Given the description of an element on the screen output the (x, y) to click on. 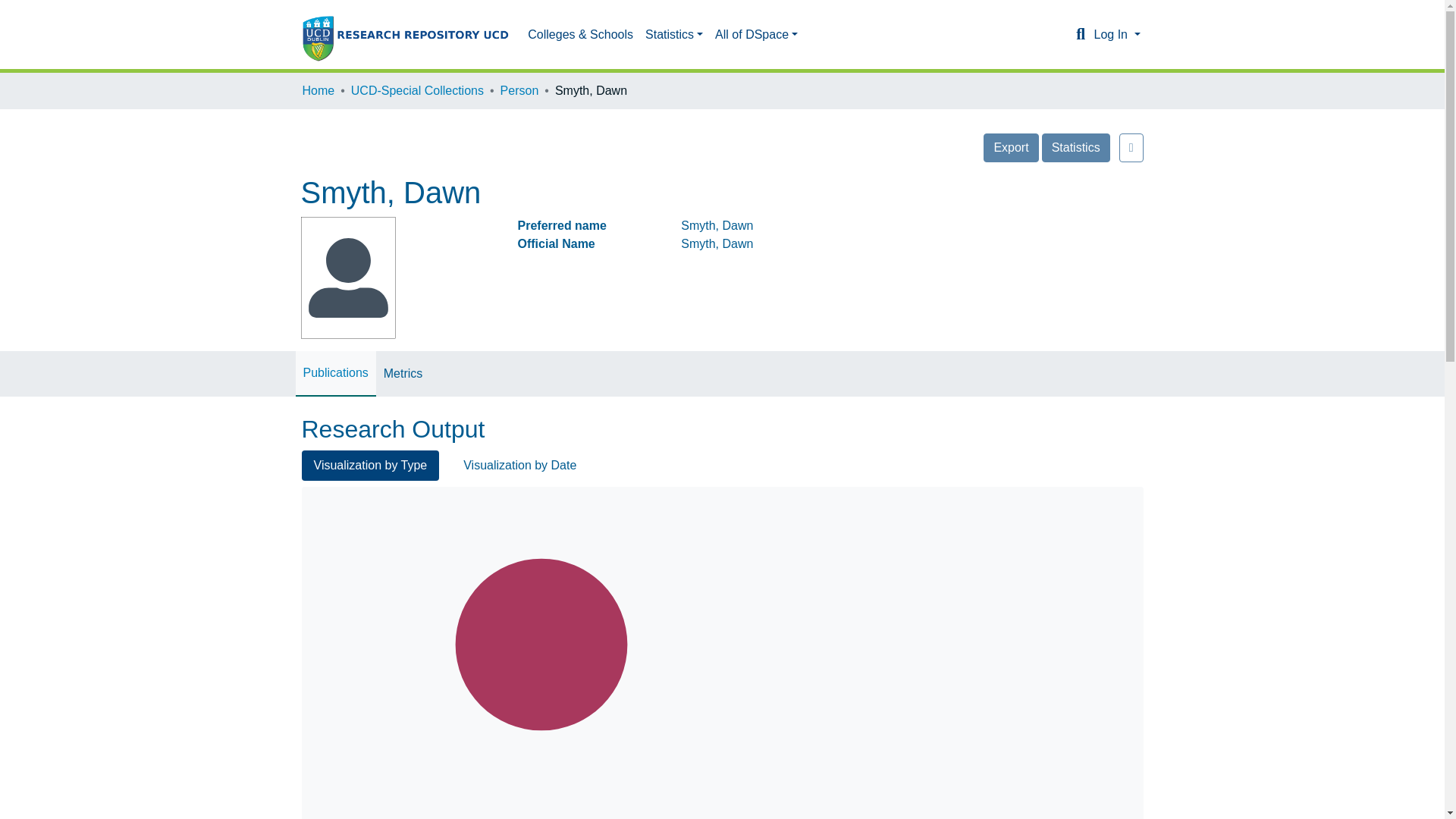
Export (1011, 147)
Statistics (674, 34)
Log In (1116, 33)
Person (519, 90)
Visualization by Date (519, 465)
Publications (335, 372)
Publications (335, 372)
Metrics (402, 373)
All of DSpace (756, 34)
UCD-Special Collections (416, 90)
Search (1080, 34)
Visualization by Type (370, 465)
Statistics (1075, 147)
Home (317, 90)
Metrics (402, 373)
